Given the description of an element on the screen output the (x, y) to click on. 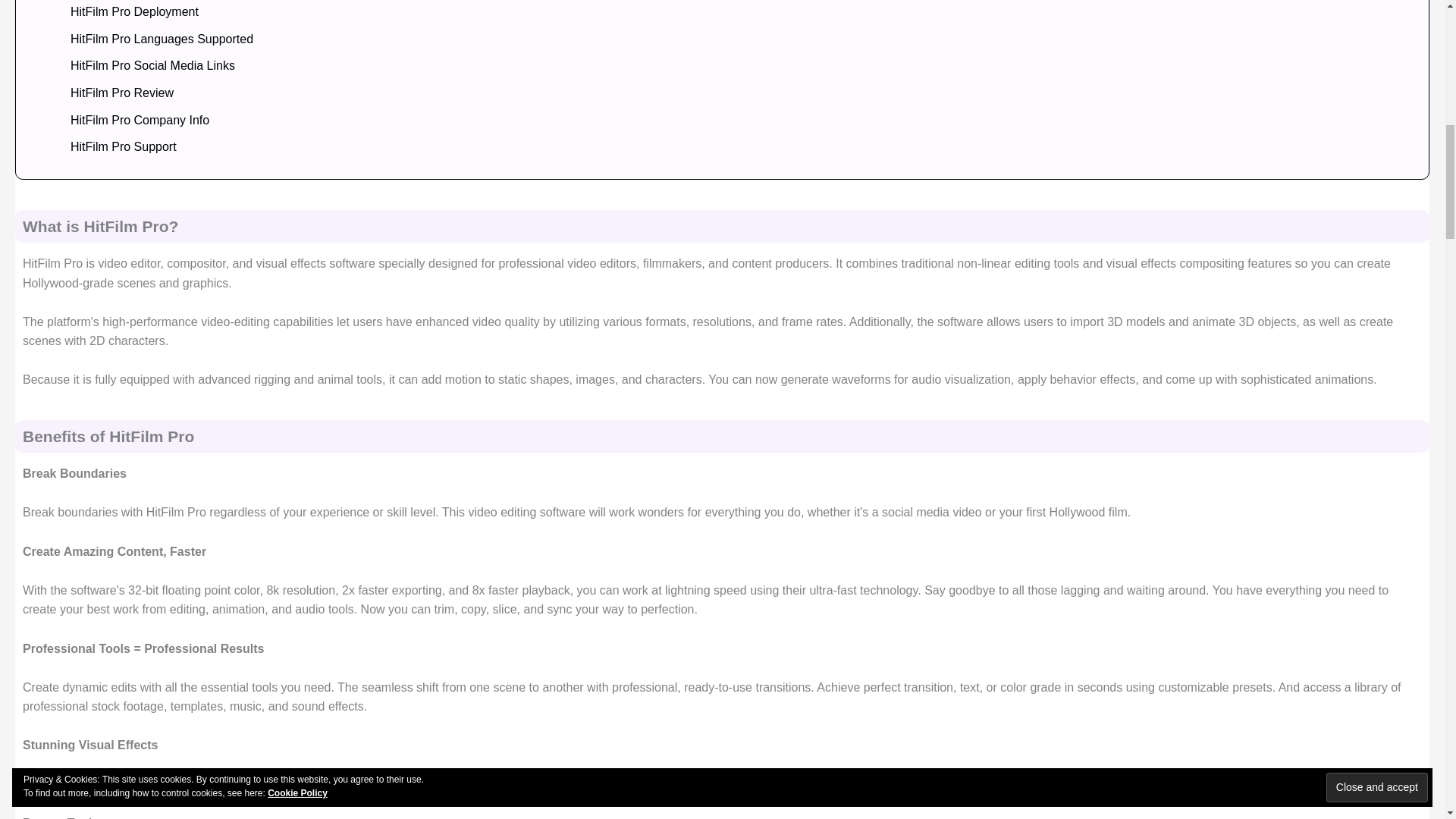
HitFilm Pro Social Media Links (146, 65)
HitFilm Pro Deployment (128, 12)
HitFilm Pro Review (116, 93)
HitFilm Pro Support (117, 146)
HitFilm Pro Languages Supported (156, 39)
HitFilm Pro Company Info (134, 120)
